Given the description of an element on the screen output the (x, y) to click on. 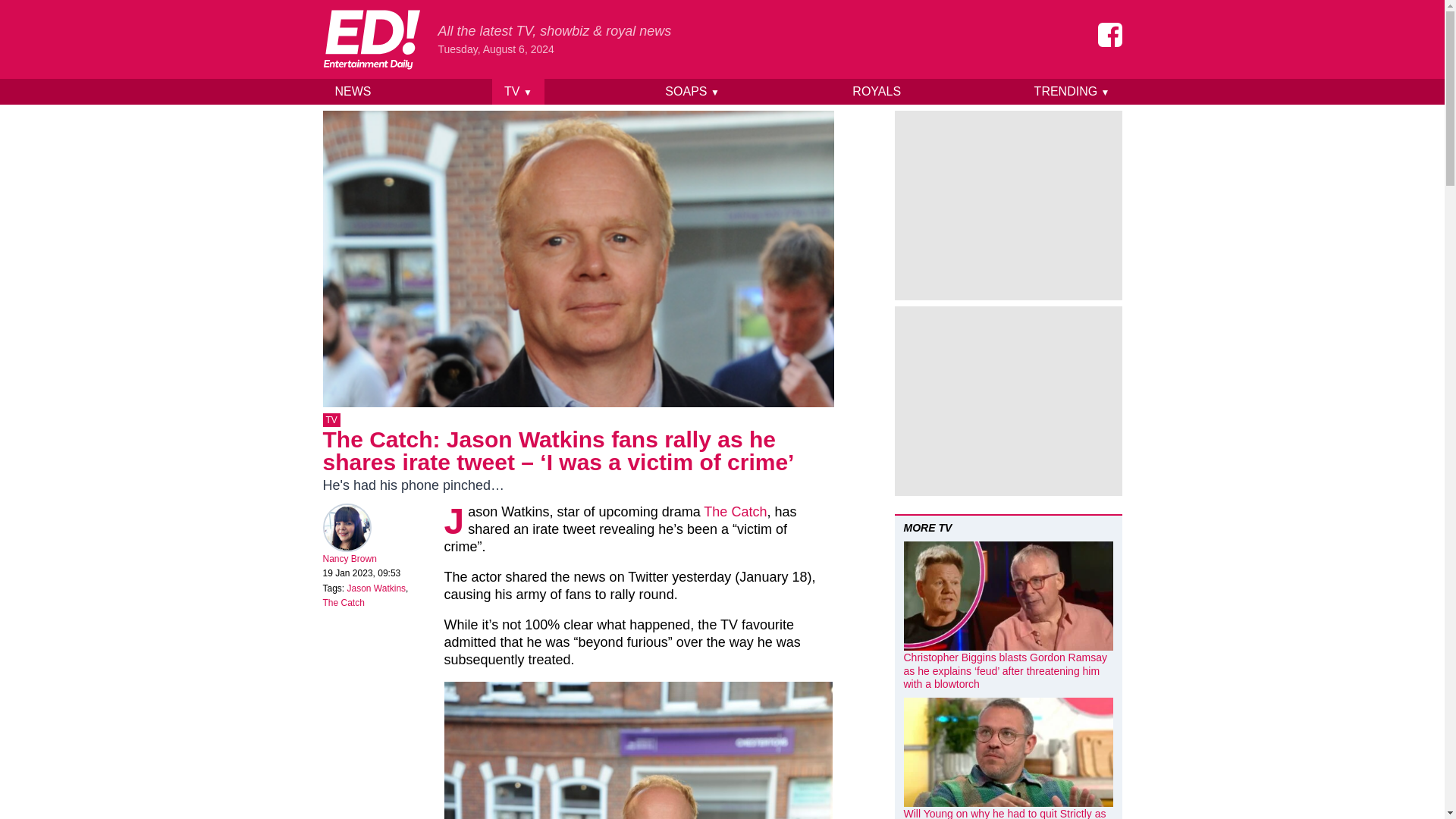
Jason Watkins (376, 588)
TV (331, 419)
Nancy Brown (350, 558)
ROYALS (876, 91)
The Catch (735, 511)
NEWS (353, 91)
The Catch (344, 602)
